Given the description of an element on the screen output the (x, y) to click on. 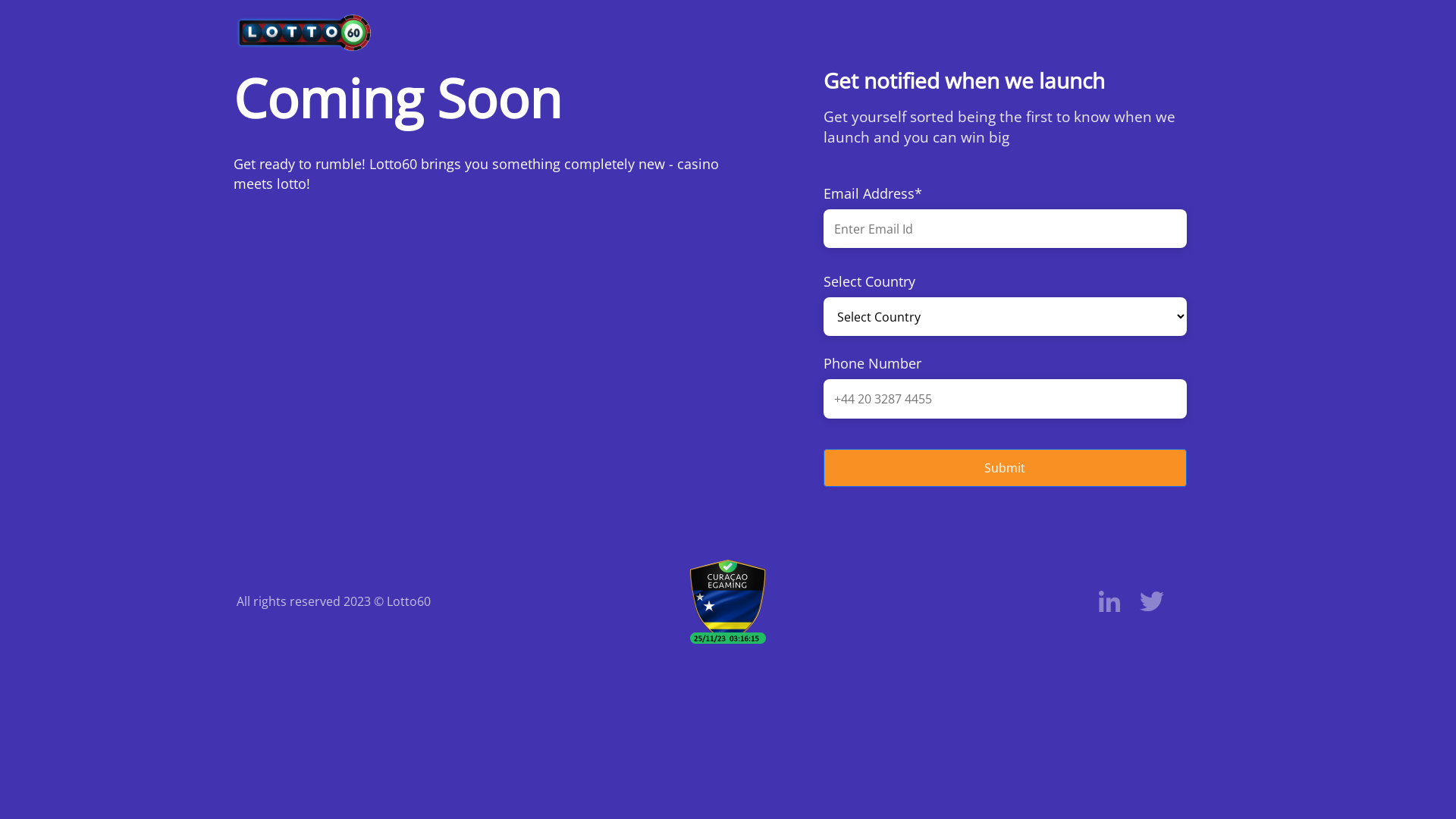
Submit Element type: text (1004, 444)
